Given the description of an element on the screen output the (x, y) to click on. 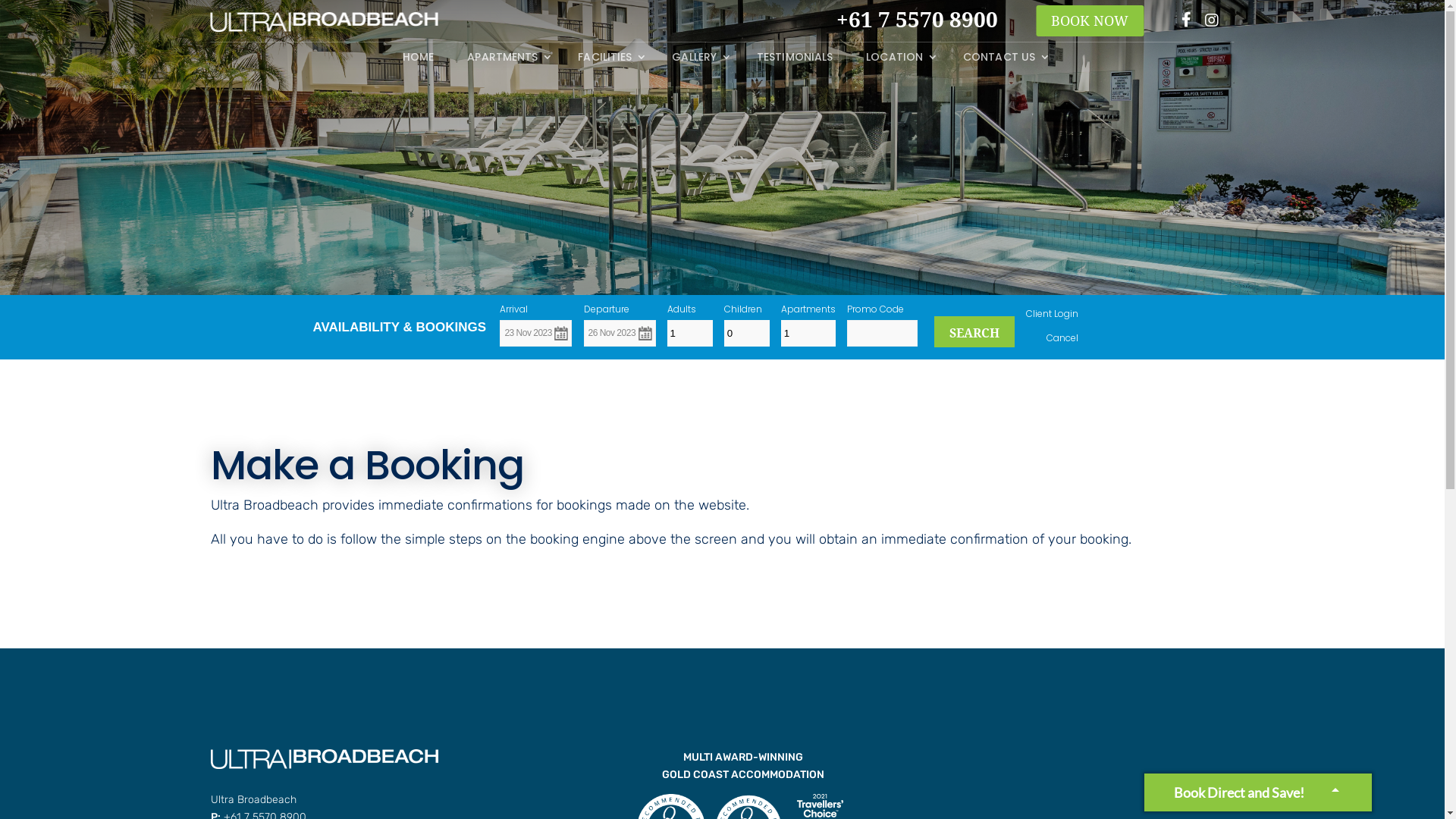
+61 7 5570 8900 Element type: text (1101, 19)
CONTACT US Element type: text (1002, 59)
APARTMENTS Element type: text (505, 59)
LOGO-Wh-500w Element type: hover (324, 758)
HOME Element type: text (418, 59)
BOOK NOW Element type: text (1089, 20)
LOGO-Wh-500w Element type: hover (324, 21)
SEARCH Element type: text (974, 331)
GALLERY Element type: text (697, 59)
Cancel Element type: text (1062, 337)
FACILITIES Element type: text (607, 59)
TESTIMONIALS Element type: text (794, 59)
LOCATION Element type: text (897, 59)
Client Login Element type: text (1052, 313)
